Given the description of an element on the screen output the (x, y) to click on. 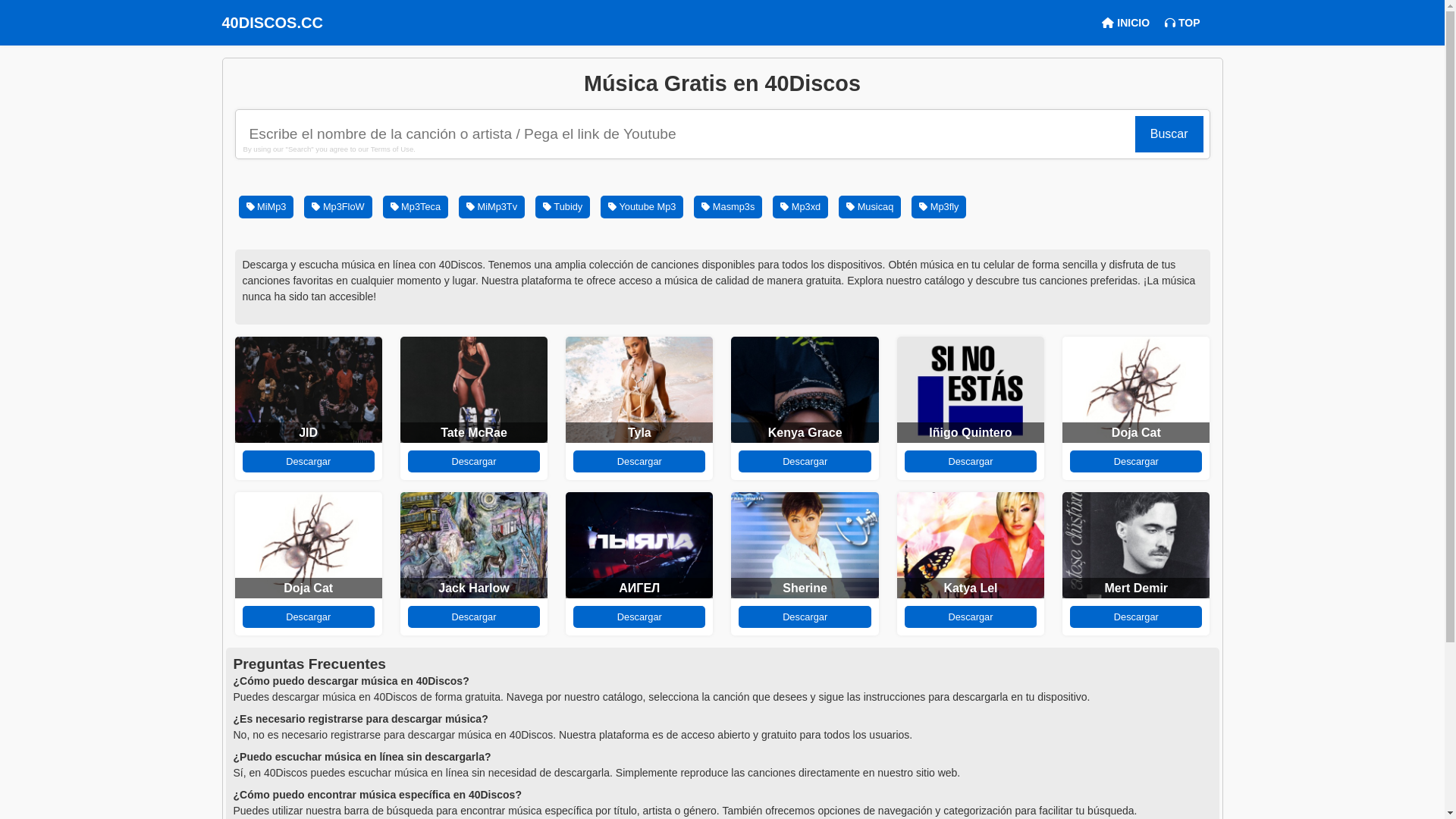
Descargar Element type: text (473, 616)
Mp3FloW Element type: text (337, 206)
Descargar Element type: text (970, 616)
Kenya Grace Element type: text (805, 432)
Doja Cat Element type: text (307, 587)
Youtube Mp3 Element type: text (641, 206)
Musicaq Element type: text (869, 206)
Mp3Teca Element type: text (415, 206)
Tubidy Element type: text (562, 206)
INICIO Element type: text (1125, 22)
MiMp3 Element type: text (265, 206)
JID Element type: text (307, 432)
40DISCOS.CC Element type: text (271, 22)
Mp3fly Element type: text (938, 206)
Katya Lel Element type: text (970, 587)
Buscar Element type: text (1169, 134)
Sherine Element type: text (804, 587)
TOP Element type: text (1181, 22)
Mert Demir Element type: text (1136, 587)
Descargar Element type: text (804, 461)
Descargar Element type: text (639, 461)
Mp3xd Element type: text (800, 206)
Tyla Element type: text (639, 432)
Jack Harlow Element type: text (473, 587)
Tate McRae Element type: text (473, 432)
Descargar Element type: text (804, 616)
Descargar Element type: text (1135, 461)
Descargar Element type: text (1135, 616)
Doja Cat Element type: text (1136, 432)
MiMp3Tv Element type: text (491, 206)
Descargar Element type: text (308, 461)
Descargar Element type: text (639, 616)
Descargar Element type: text (970, 461)
Descargar Element type: text (308, 616)
Descargar Element type: text (473, 461)
Masmp3s Element type: text (727, 206)
